Given the description of an element on the screen output the (x, y) to click on. 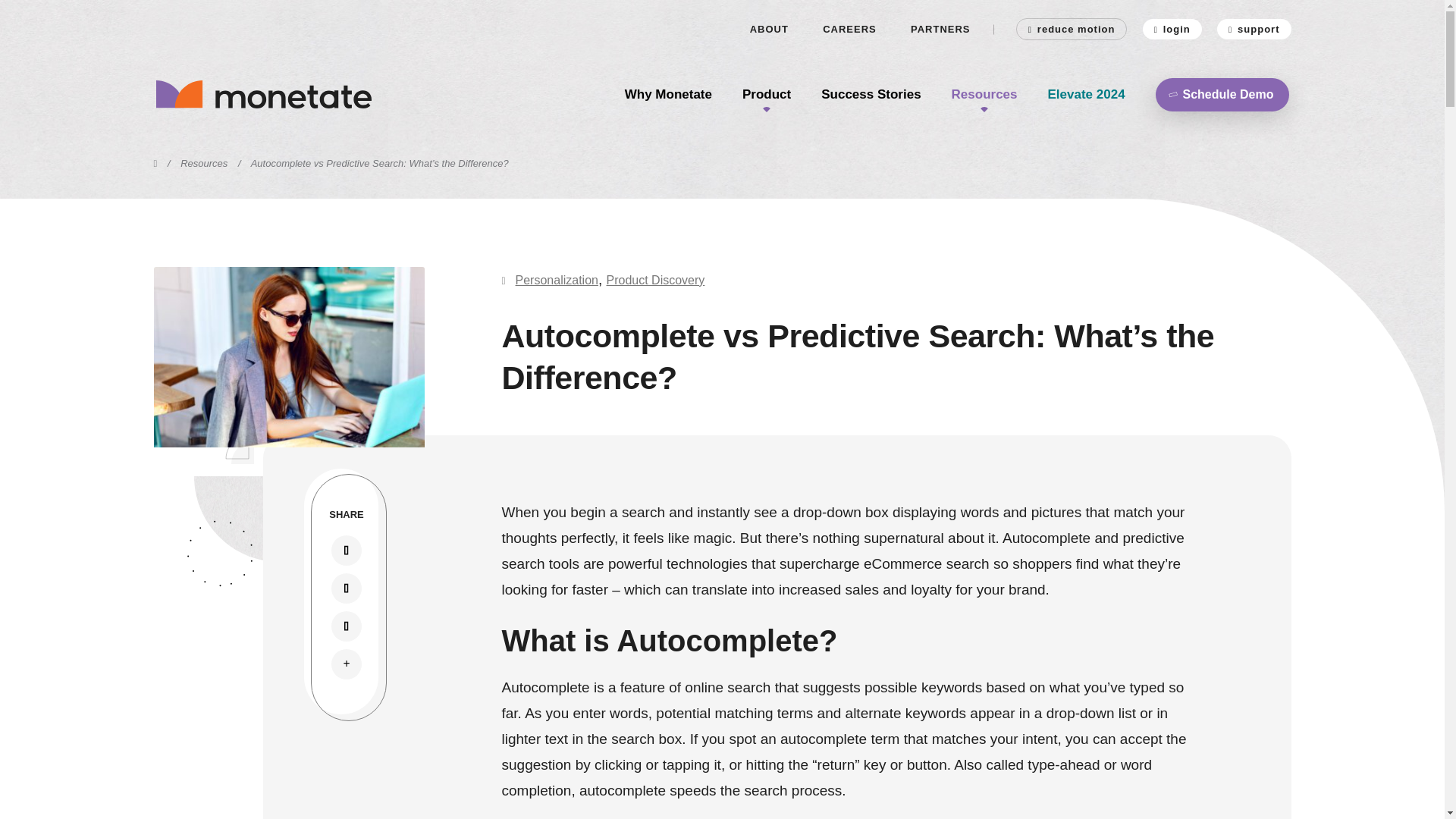
Schedule Demo (1222, 93)
Support (1253, 28)
Resources (984, 93)
Partners (940, 28)
About (768, 28)
Why Monetate (667, 93)
Back to home (288, 94)
Reduce Motion (1071, 29)
Careers (849, 28)
reduce motion (1071, 29)
